Given the description of an element on the screen output the (x, y) to click on. 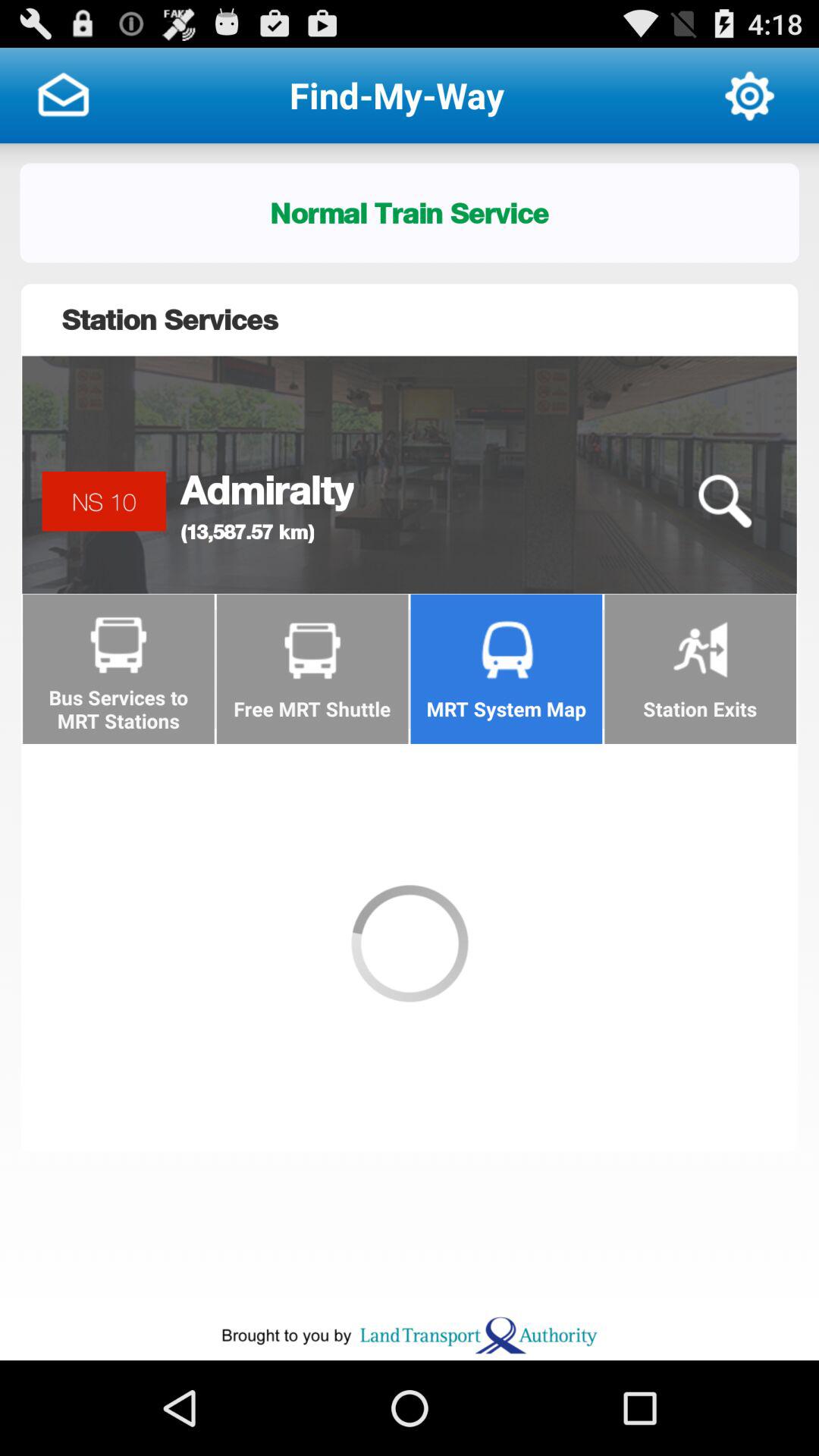
turn on the icon above normal train service app (749, 95)
